Given the description of an element on the screen output the (x, y) to click on. 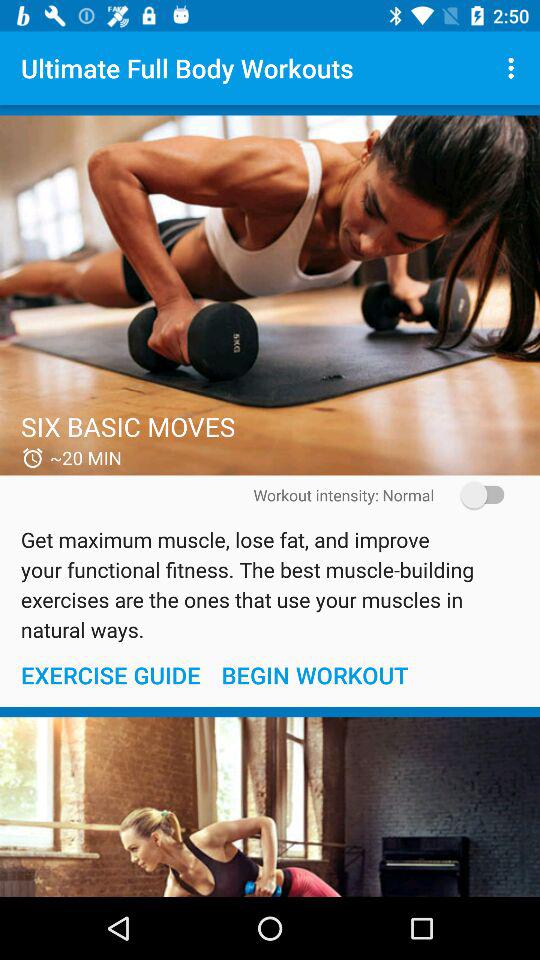
click the item above the get maximum muscle item (476, 494)
